Given the description of an element on the screen output the (x, y) to click on. 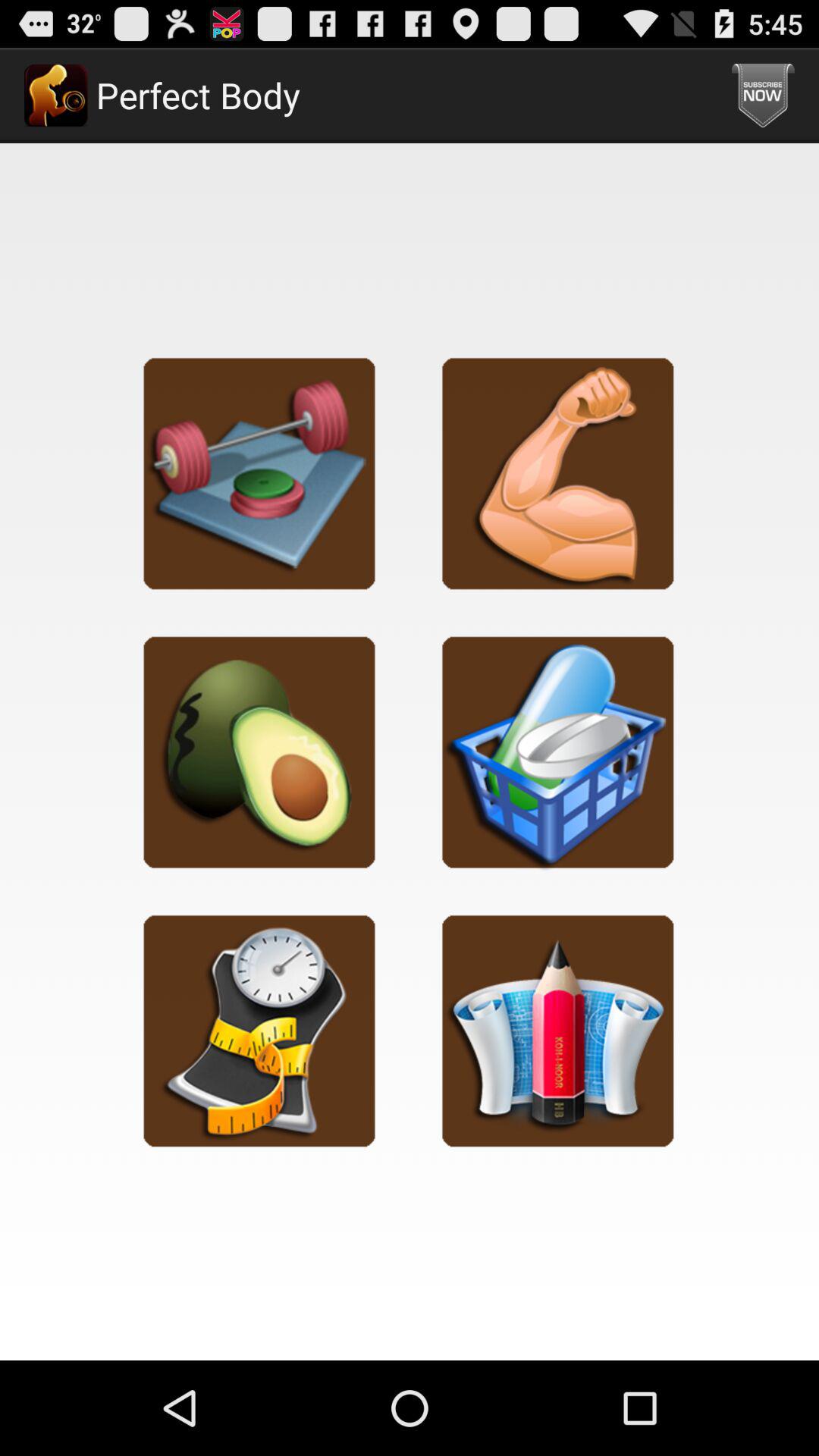
tap the icon to the right of perfect body icon (763, 95)
